Given the description of an element on the screen output the (x, y) to click on. 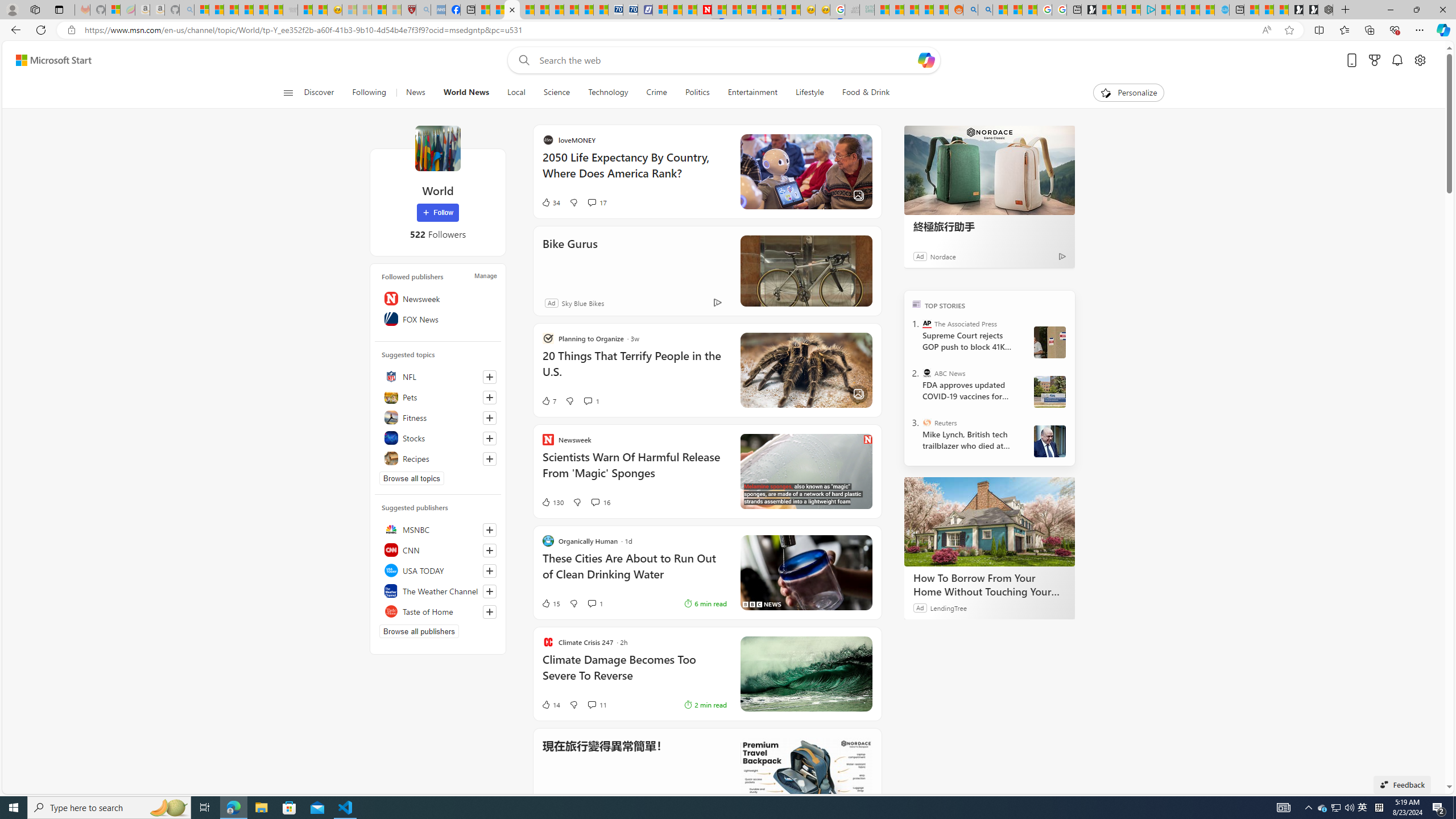
World (437, 148)
Bike Gurus (569, 259)
View comments 17 Comment (596, 202)
130 Like (551, 502)
